Given the description of an element on the screen output the (x, y) to click on. 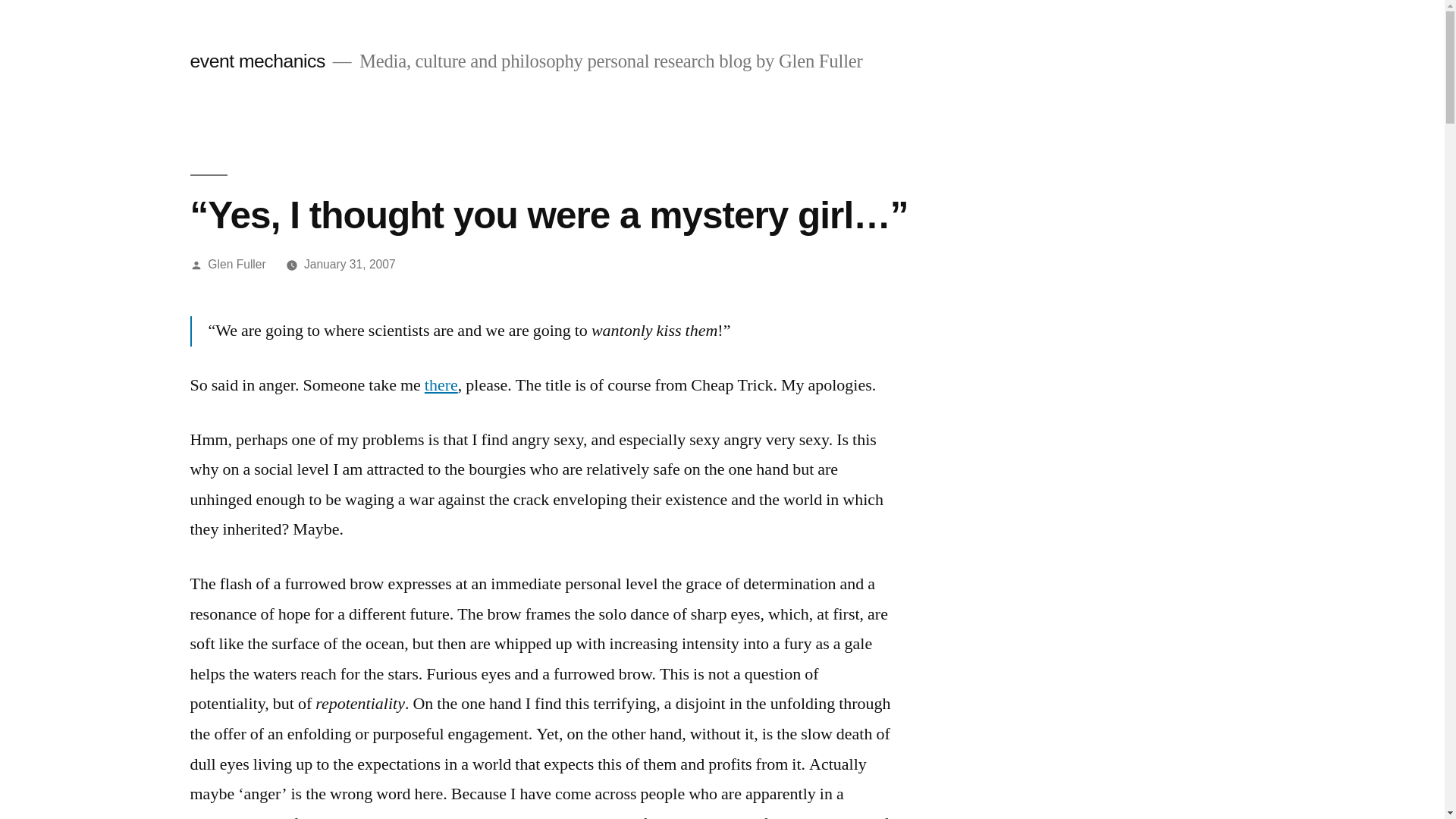
Glen Fuller Element type: text (236, 263)
there Element type: text (441, 384)
January 31, 2007 Element type: text (349, 263)
event mechanics Element type: text (256, 60)
